Given the description of an element on the screen output the (x, y) to click on. 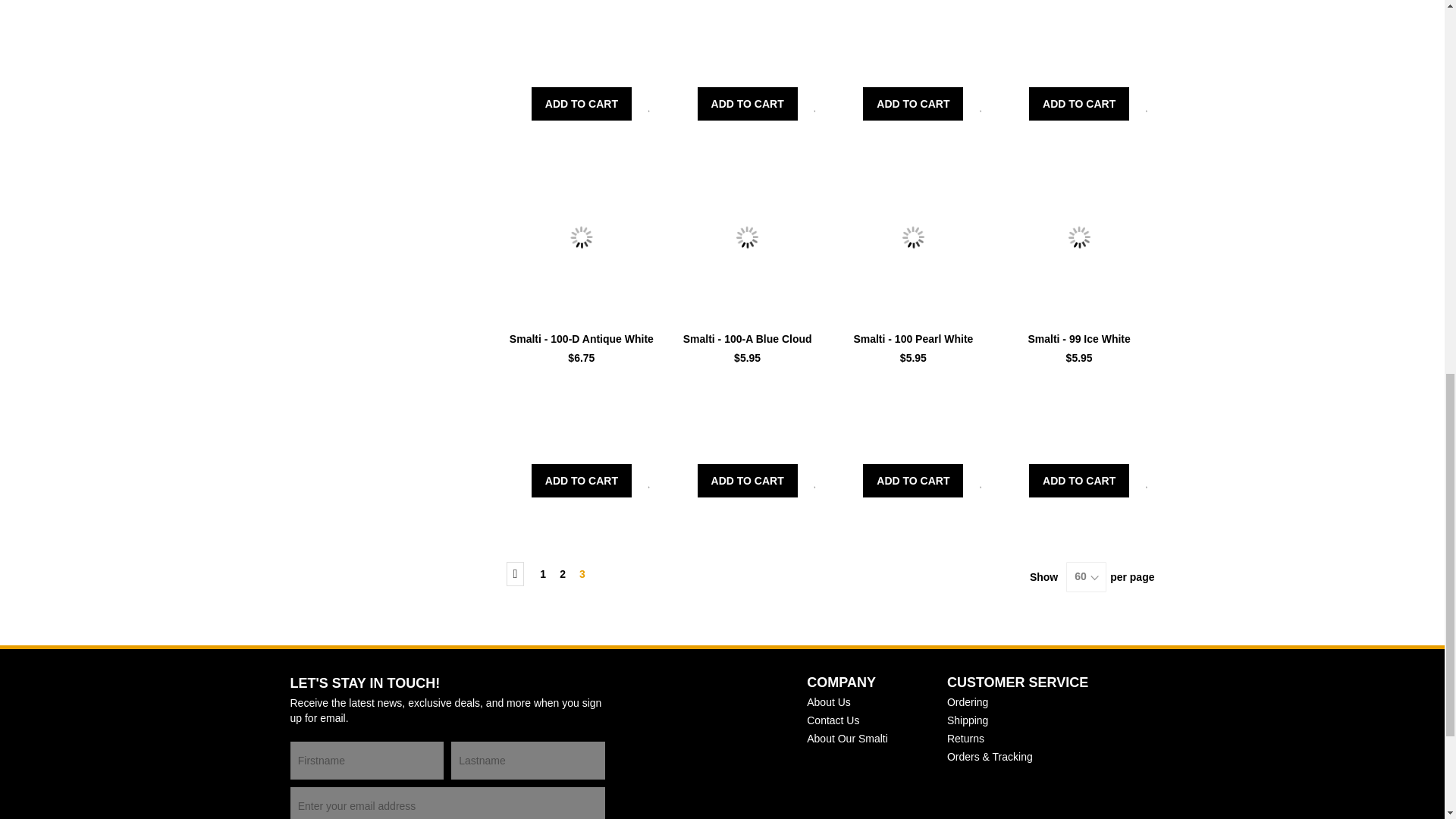
Add to Wish List (815, 105)
Add to Wish List (649, 105)
Add to Cart (581, 480)
Add to Cart (747, 103)
Add to Cart (581, 103)
Add to Wish List (1147, 105)
Add to Cart (912, 103)
Add to Wish List (649, 482)
Add to Cart (1079, 103)
Add to Wish List (981, 105)
